Given the description of an element on the screen output the (x, y) to click on. 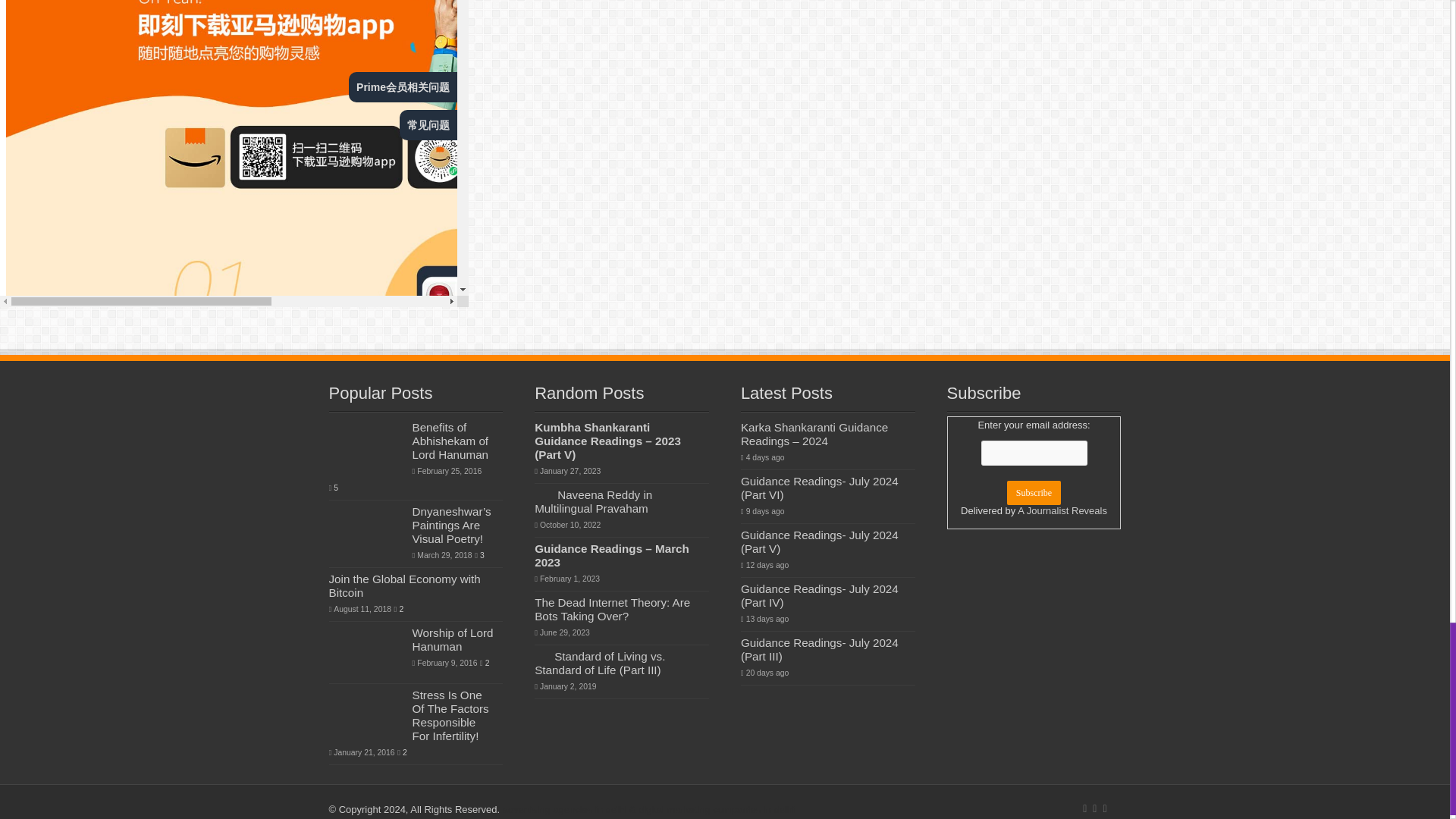
Subscribe (1034, 492)
